Given the description of an element on the screen output the (x, y) to click on. 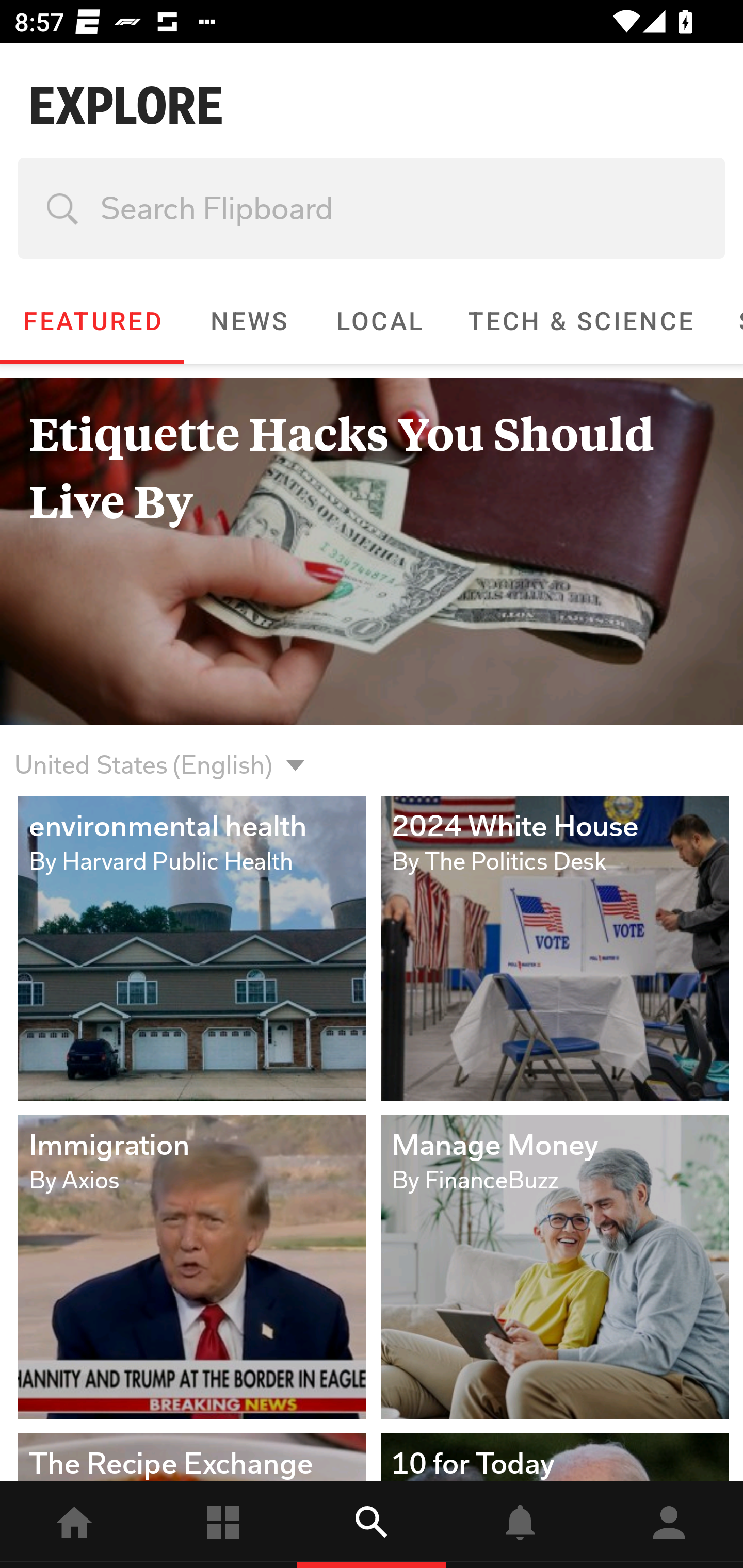
Search Flipboard (371, 208)
News NEWS (248, 320)
Local LOCAL (379, 320)
Tech & Science TECH & SCIENCE (580, 320)
United States (English) (143, 753)
home (74, 1524)
Following (222, 1524)
explore (371, 1524)
Notifications (519, 1524)
Profile (668, 1524)
